Given the description of an element on the screen output the (x, y) to click on. 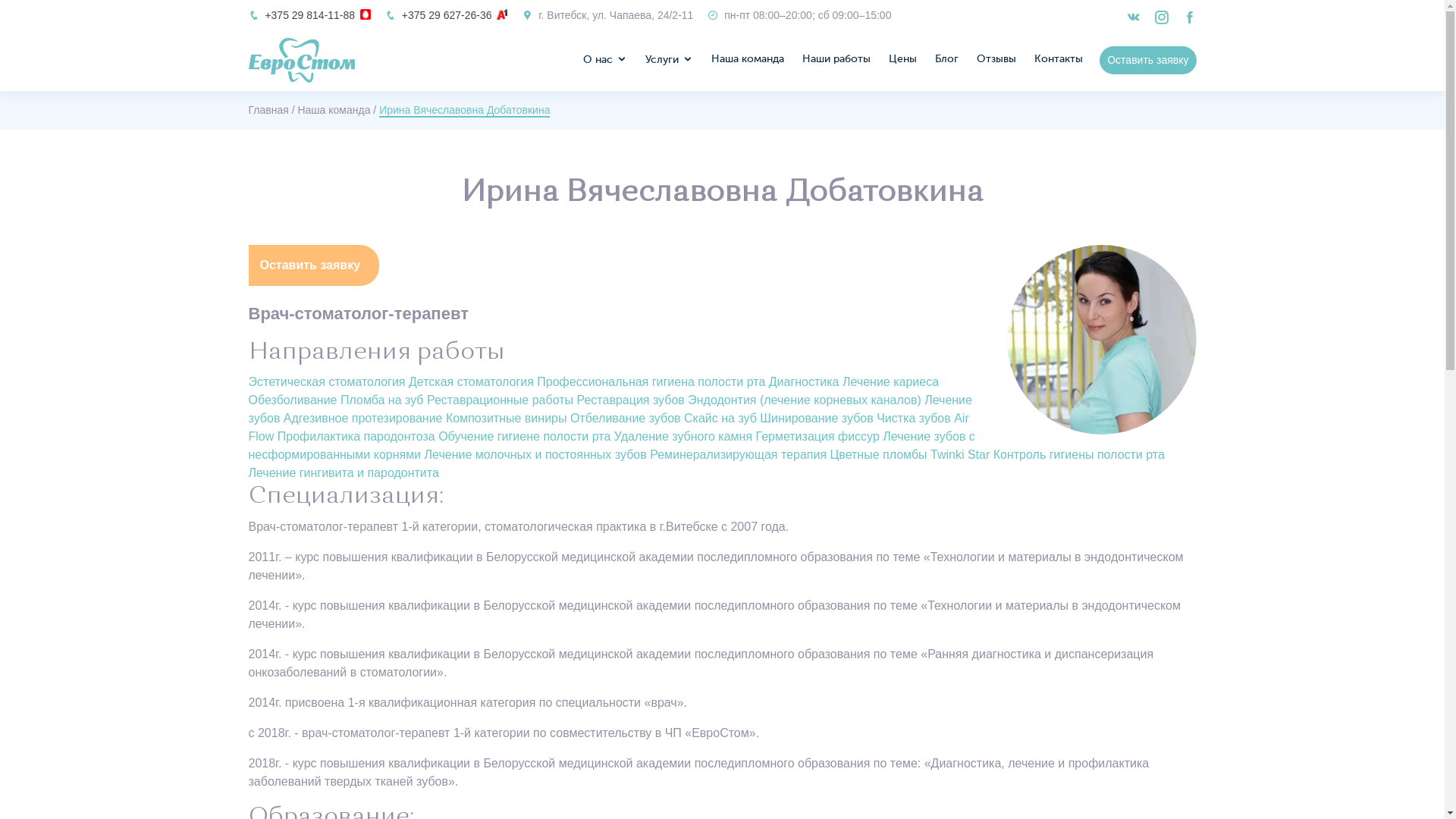
+375 29 814-11-88 Element type: text (309, 15)
+375 29 627-26-36 Element type: text (446, 15)
